Given the description of an element on the screen output the (x, y) to click on. 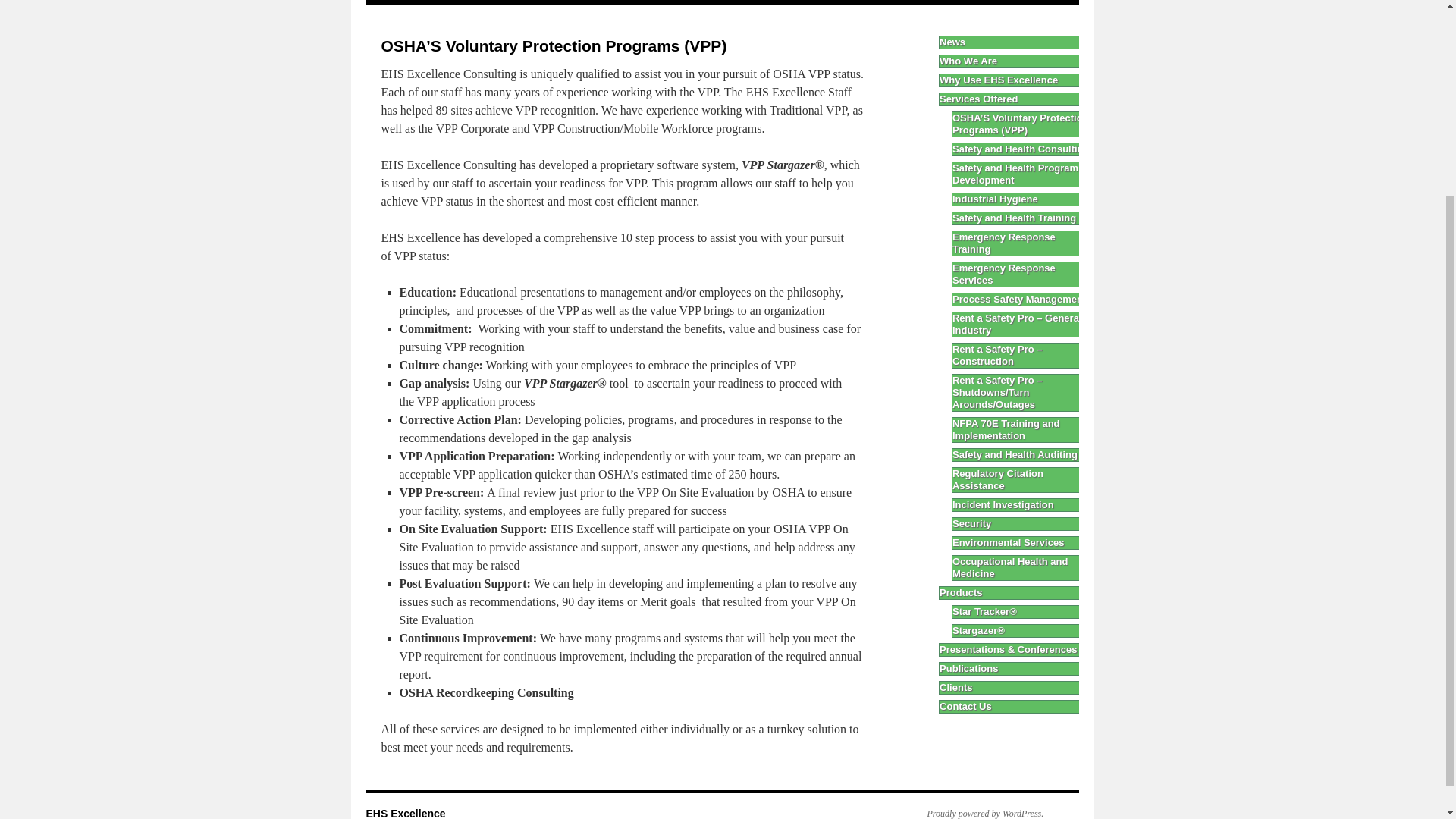
News (1016, 42)
Clients (990, 2)
Who We Are (1016, 60)
Why Use EHS Excellence (549, 2)
Services Offered (656, 2)
Industrial Hygiene (1023, 199)
Products (728, 2)
Contact Us (1045, 2)
Safety and Health Program Development (1023, 174)
News (394, 2)
